Given the description of an element on the screen output the (x, y) to click on. 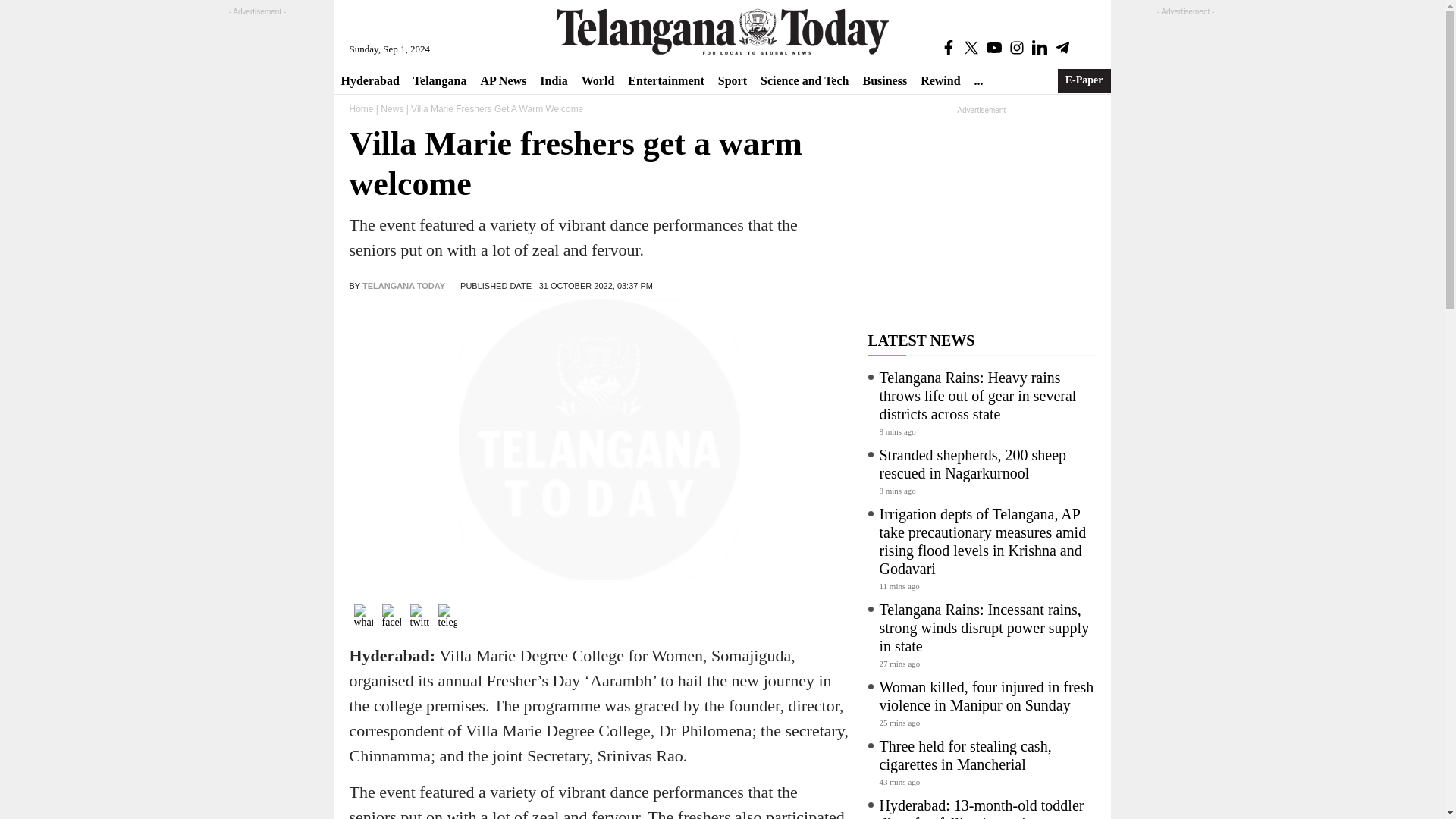
... (979, 80)
World (598, 80)
AP News (502, 80)
English News (722, 31)
AP News (502, 80)
Sport (732, 80)
Telangana (440, 80)
Rewind (940, 80)
News (391, 109)
Business (885, 80)
